Given the description of an element on the screen output the (x, y) to click on. 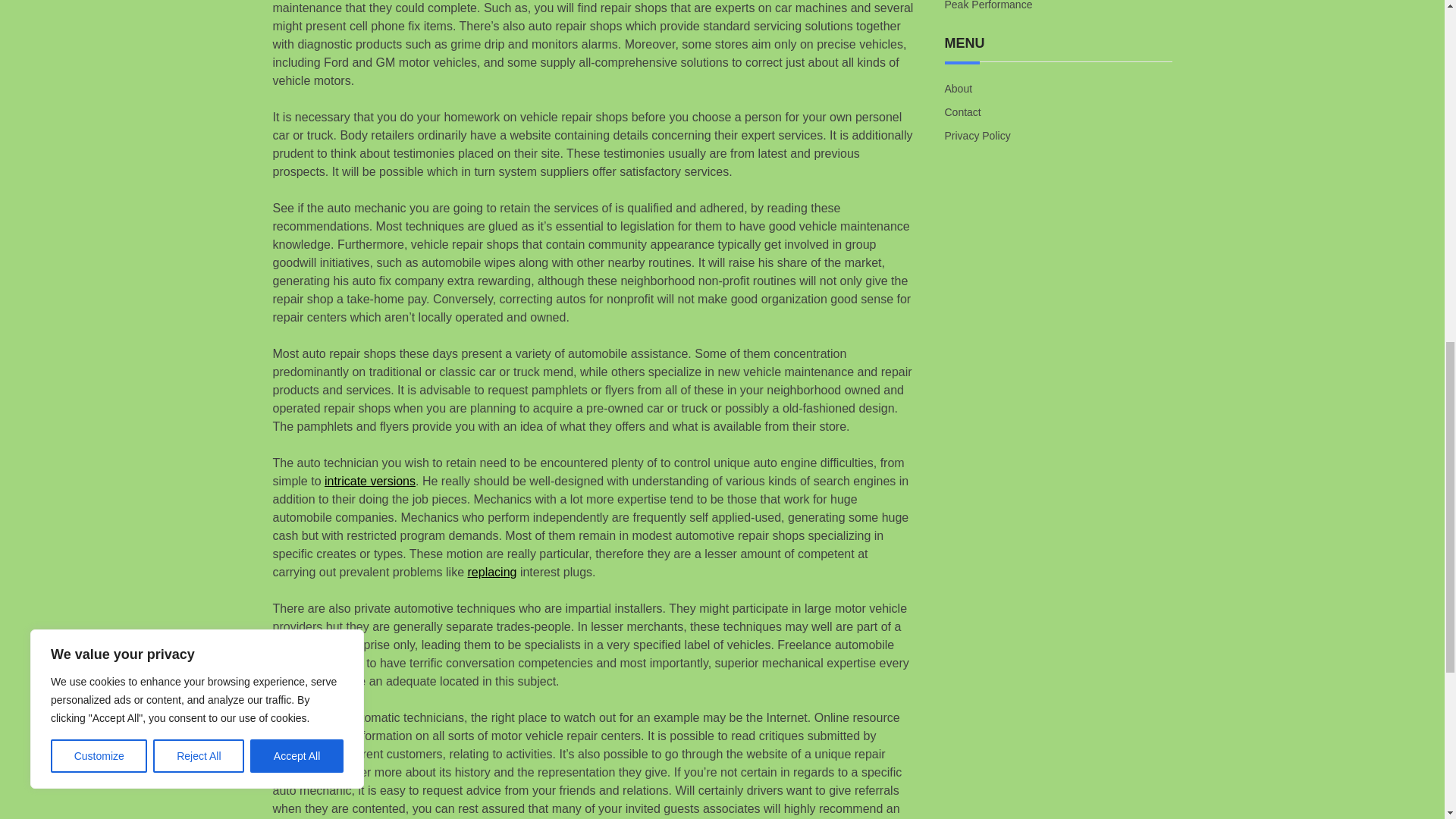
intricate versions (369, 481)
single child (303, 680)
replacing (491, 571)
